Given the description of an element on the screen output the (x, y) to click on. 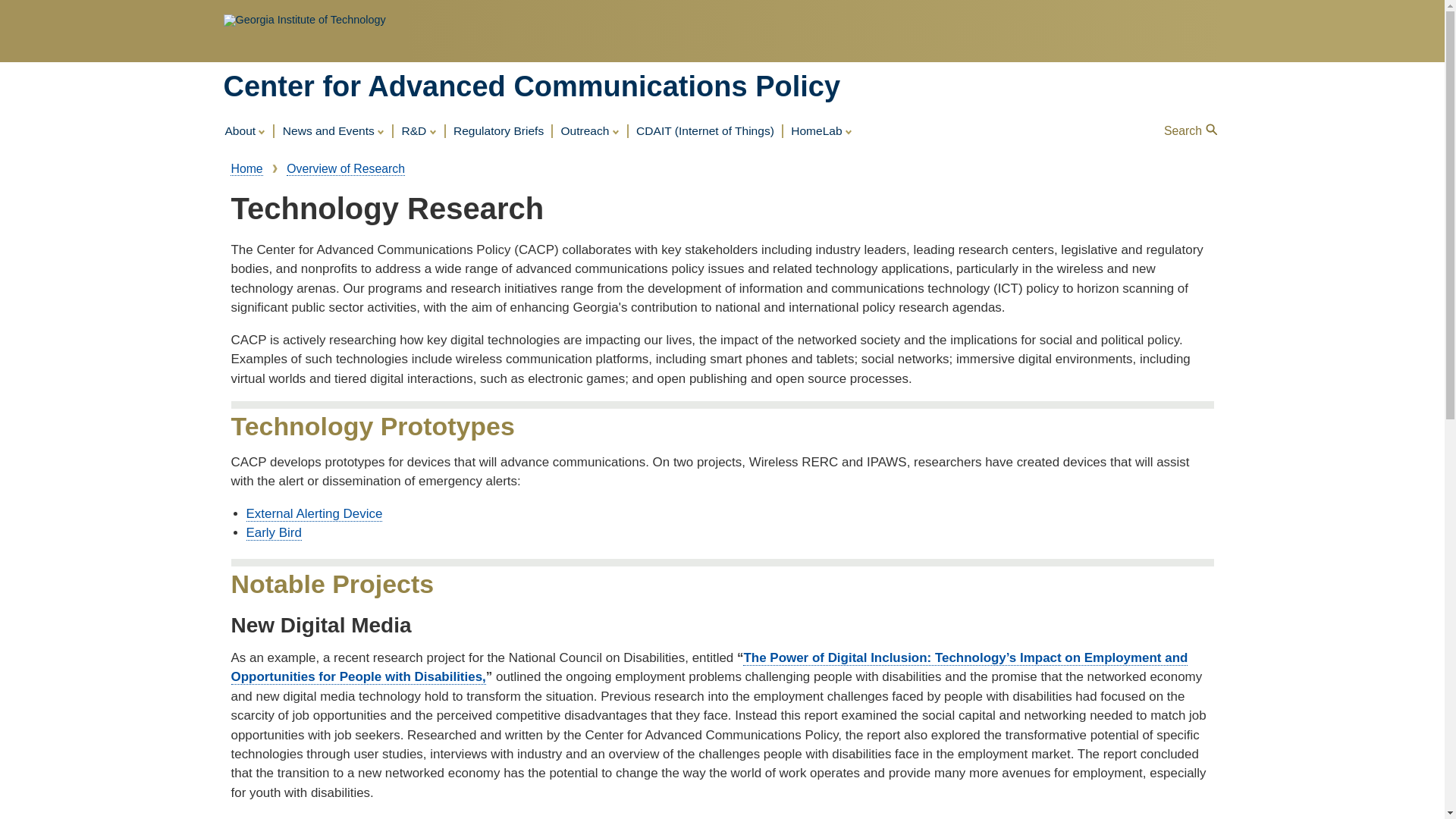
Outreach (589, 130)
Center for Advanced Communications Policy (531, 86)
News and Events (333, 130)
Skip to main content (722, 2)
About (244, 130)
Regulatory Briefs (498, 131)
Home (531, 86)
